Given the description of an element on the screen output the (x, y) to click on. 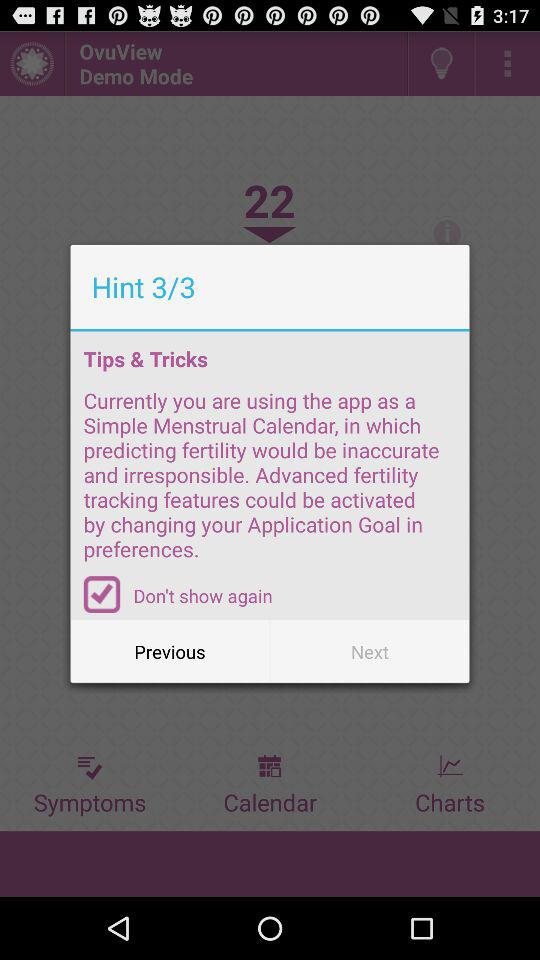
turn off previous (169, 651)
